Given the description of an element on the screen output the (x, y) to click on. 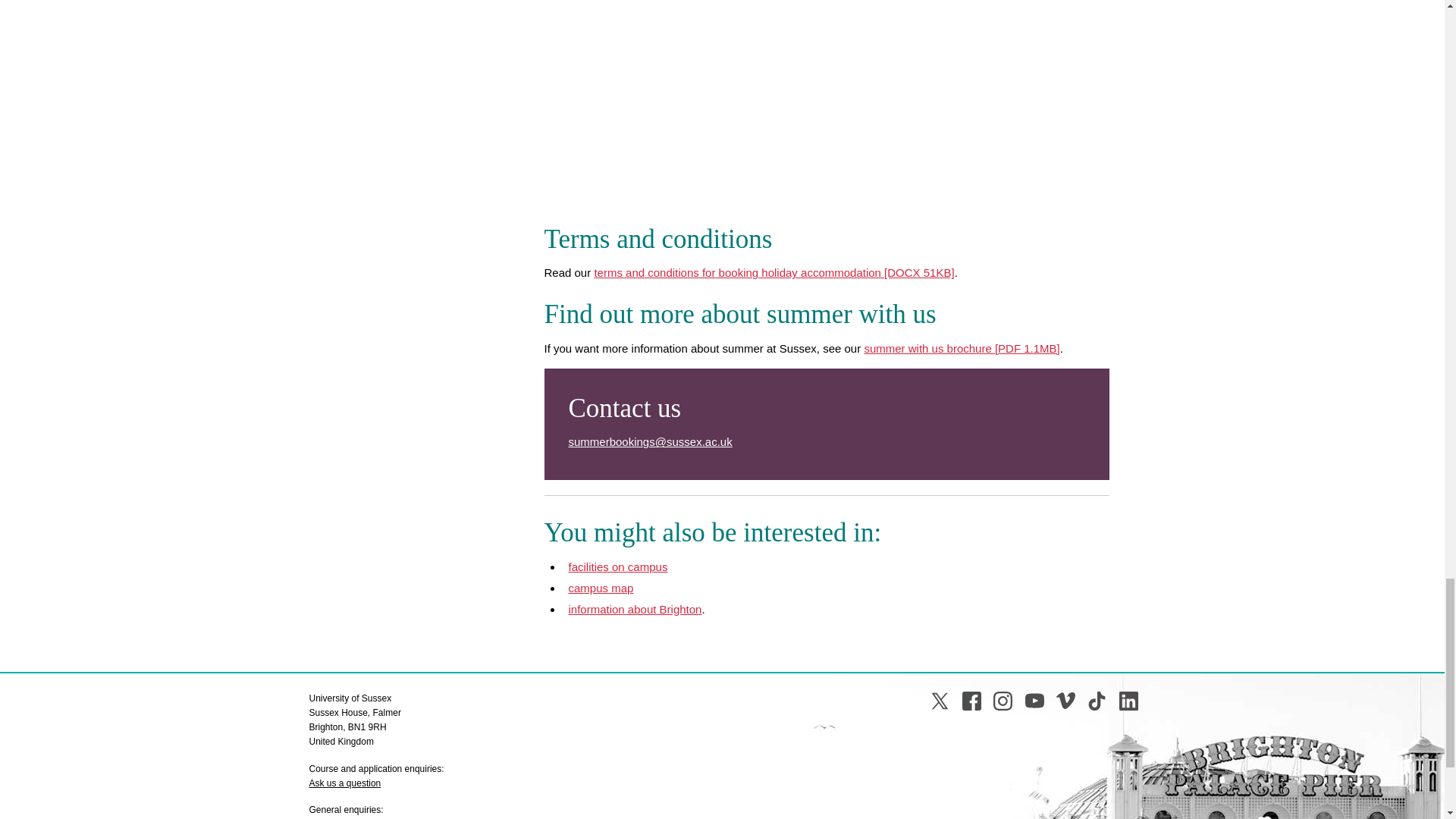
YouTube (1034, 700)
Instagram (1001, 700)
Twitter (939, 700)
Vimeo (1066, 700)
Facebook (971, 700)
Linkedin (1128, 700)
Tiktok (1096, 700)
